Given the description of an element on the screen output the (x, y) to click on. 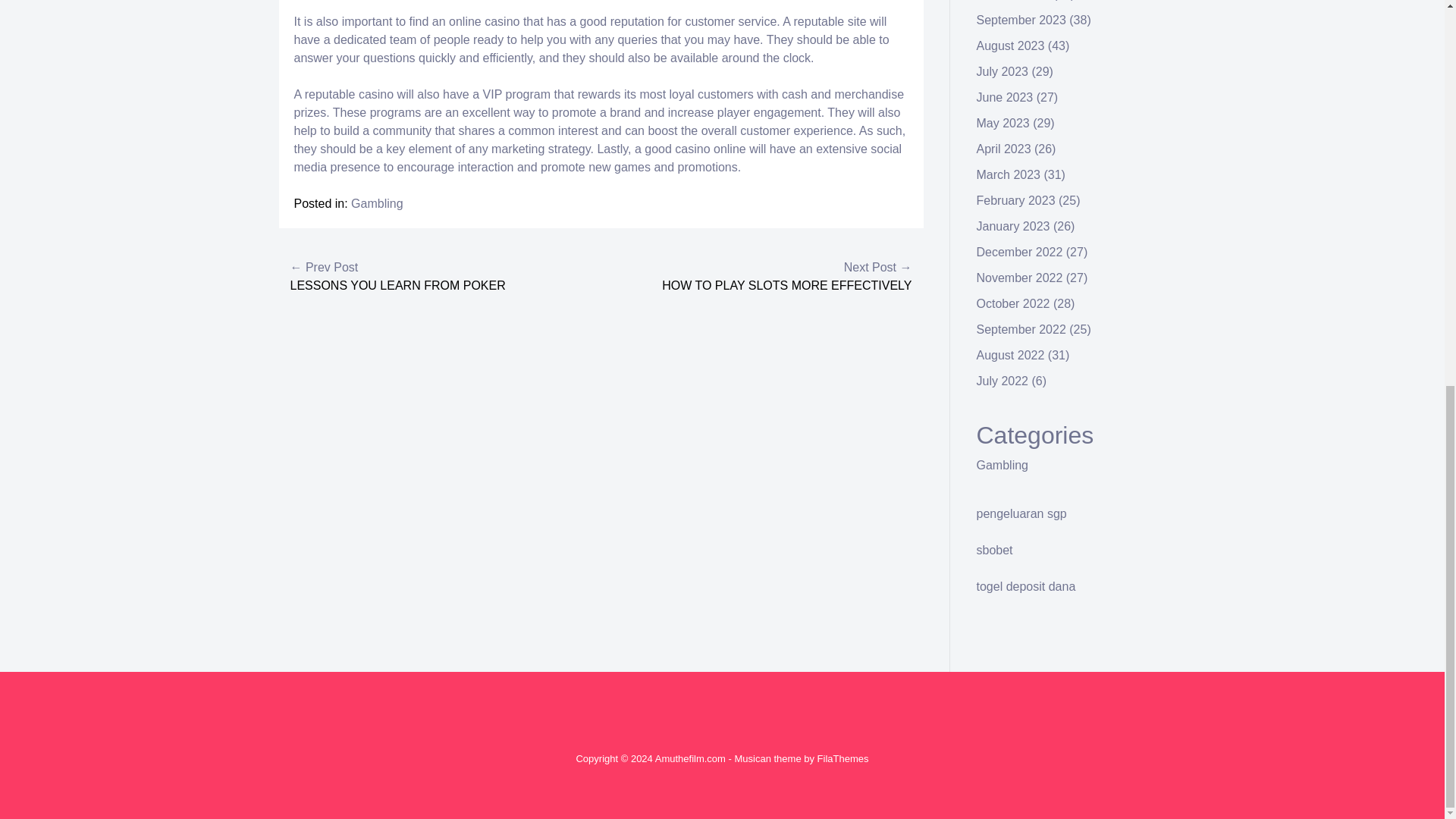
February 2023 (1015, 200)
Gambling (376, 203)
July 2023 (1002, 71)
January 2023 (1012, 226)
October 2023 (1012, 0)
April 2023 (1003, 148)
May 2023 (1002, 123)
March 2023 (1008, 174)
December 2022 (1019, 251)
September 2023 (1020, 19)
September 2022 (1020, 328)
October 2022 (1012, 303)
November 2022 (1019, 277)
Amuthefilm.com (690, 758)
August 2023 (1010, 45)
